Given the description of an element on the screen output the (x, y) to click on. 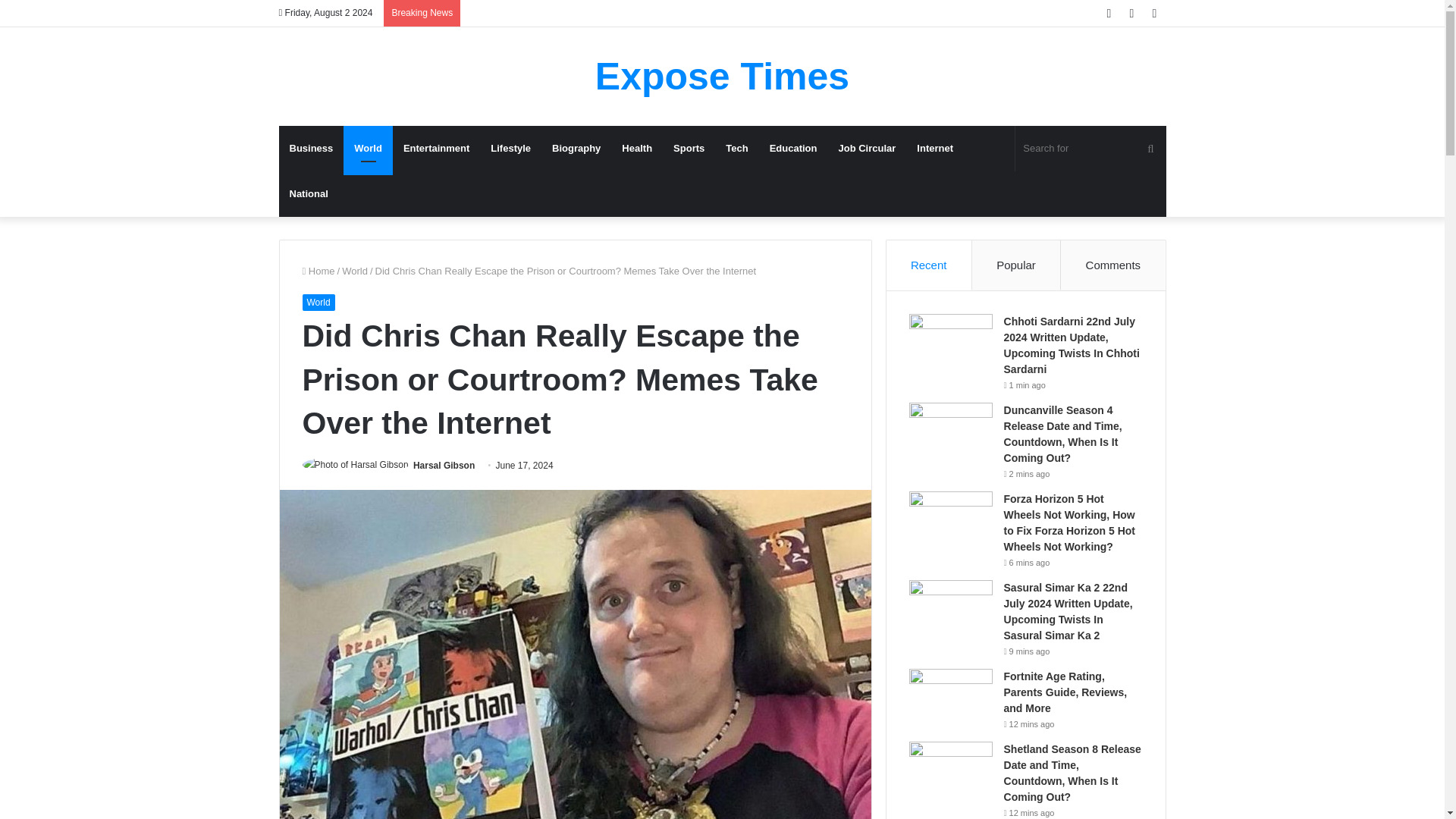
Job Circular (867, 148)
Lifestyle (510, 148)
Health (636, 148)
World (368, 148)
Search for (1090, 148)
Internet (934, 148)
Expose Times (721, 76)
National (309, 194)
World (317, 302)
Tech (736, 148)
